Given the description of an element on the screen output the (x, y) to click on. 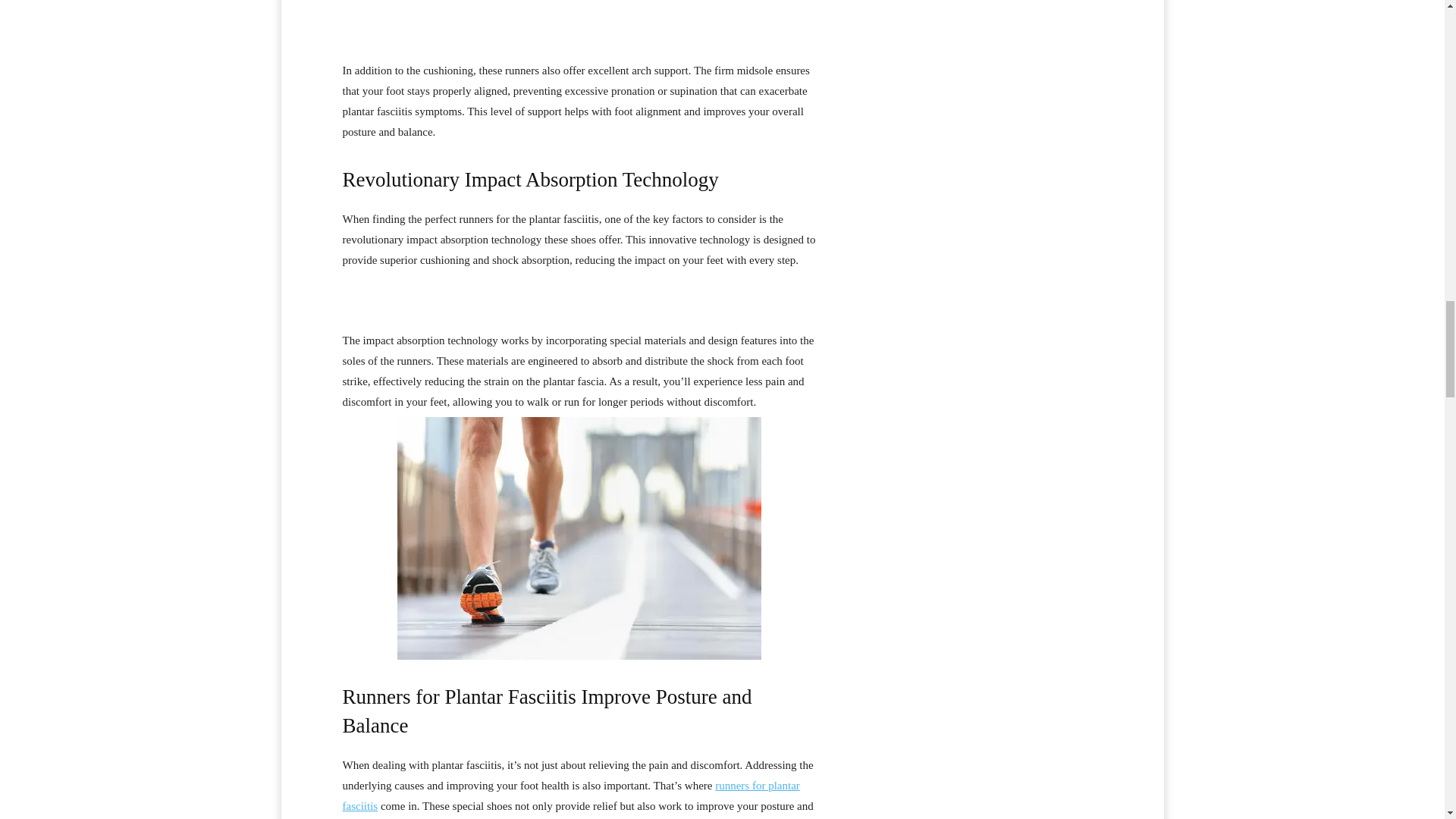
runners for plantar fasciitis (570, 795)
